Given the description of an element on the screen output the (x, y) to click on. 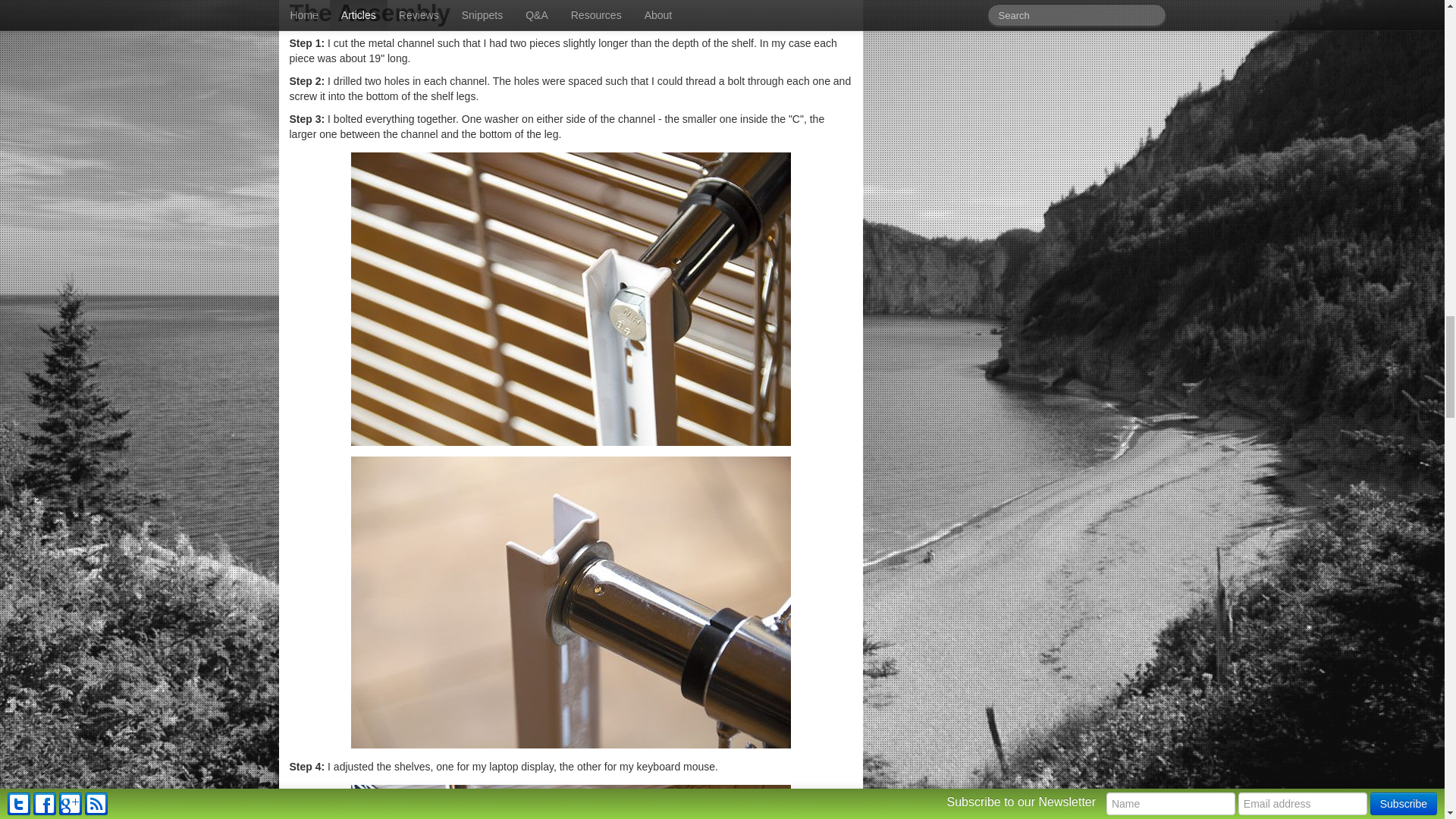
Treadmill Desk - Bottom Bolt Detail (570, 602)
Treadmill Desk - Bottom Bolt Detail (570, 298)
Treadmill Desk - Keyboard (570, 801)
